Given the description of an element on the screen output the (x, y) to click on. 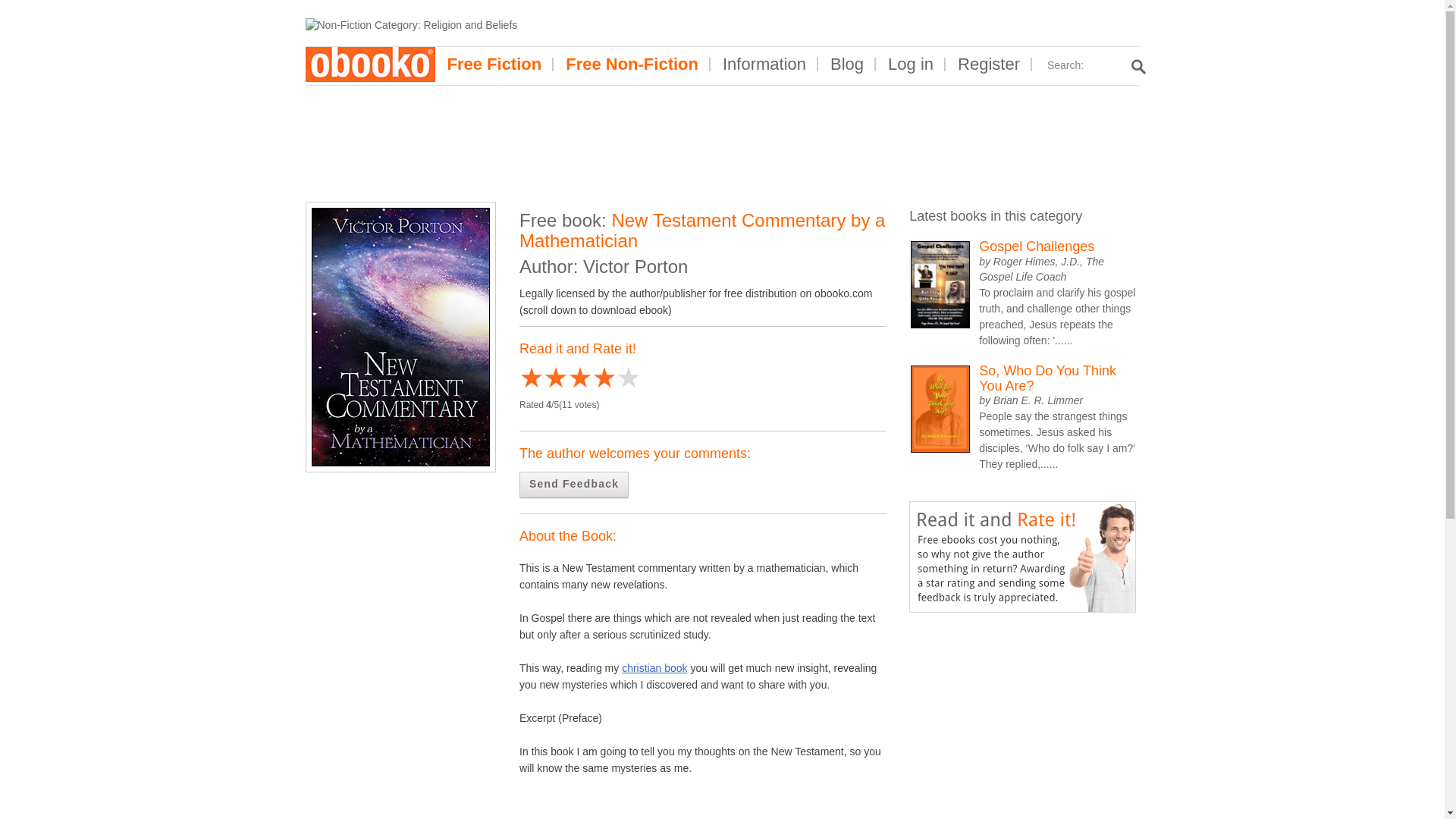
3 (555, 378)
Free Non-Fiction (631, 63)
Gospel Challenges (1057, 246)
Blog (847, 63)
4 stars out of 5 (567, 378)
2 (543, 378)
4 (567, 378)
christian book (654, 667)
5 stars out of 5 (579, 378)
1 star out of 5 (531, 378)
Information (764, 63)
Send Feedback (573, 484)
So, Who Do You Think You Are? (1057, 378)
Register (988, 63)
2 stars out of 5 (543, 378)
